Given the description of an element on the screen output the (x, y) to click on. 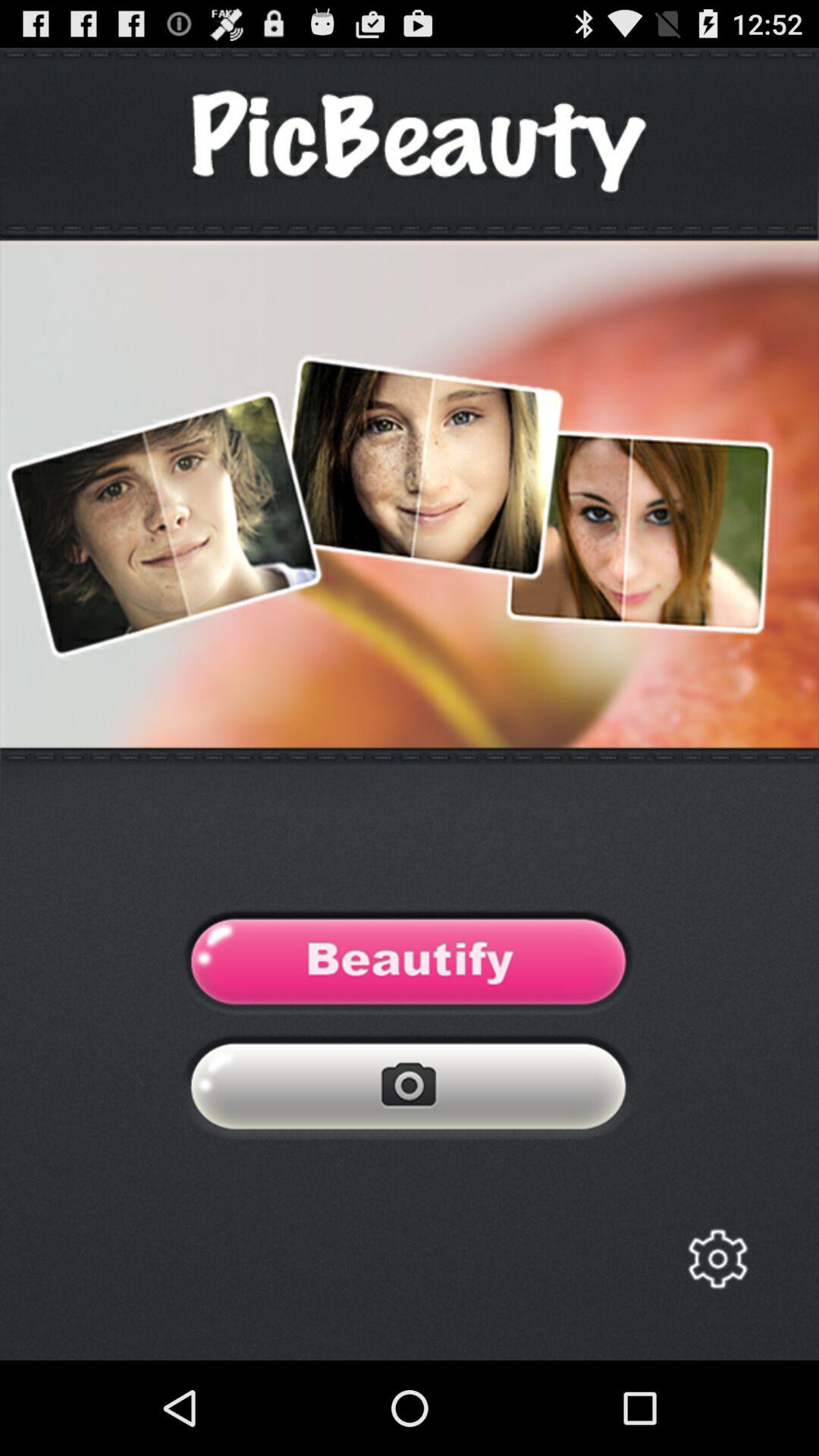
select the image (408, 965)
